Given the description of an element on the screen output the (x, y) to click on. 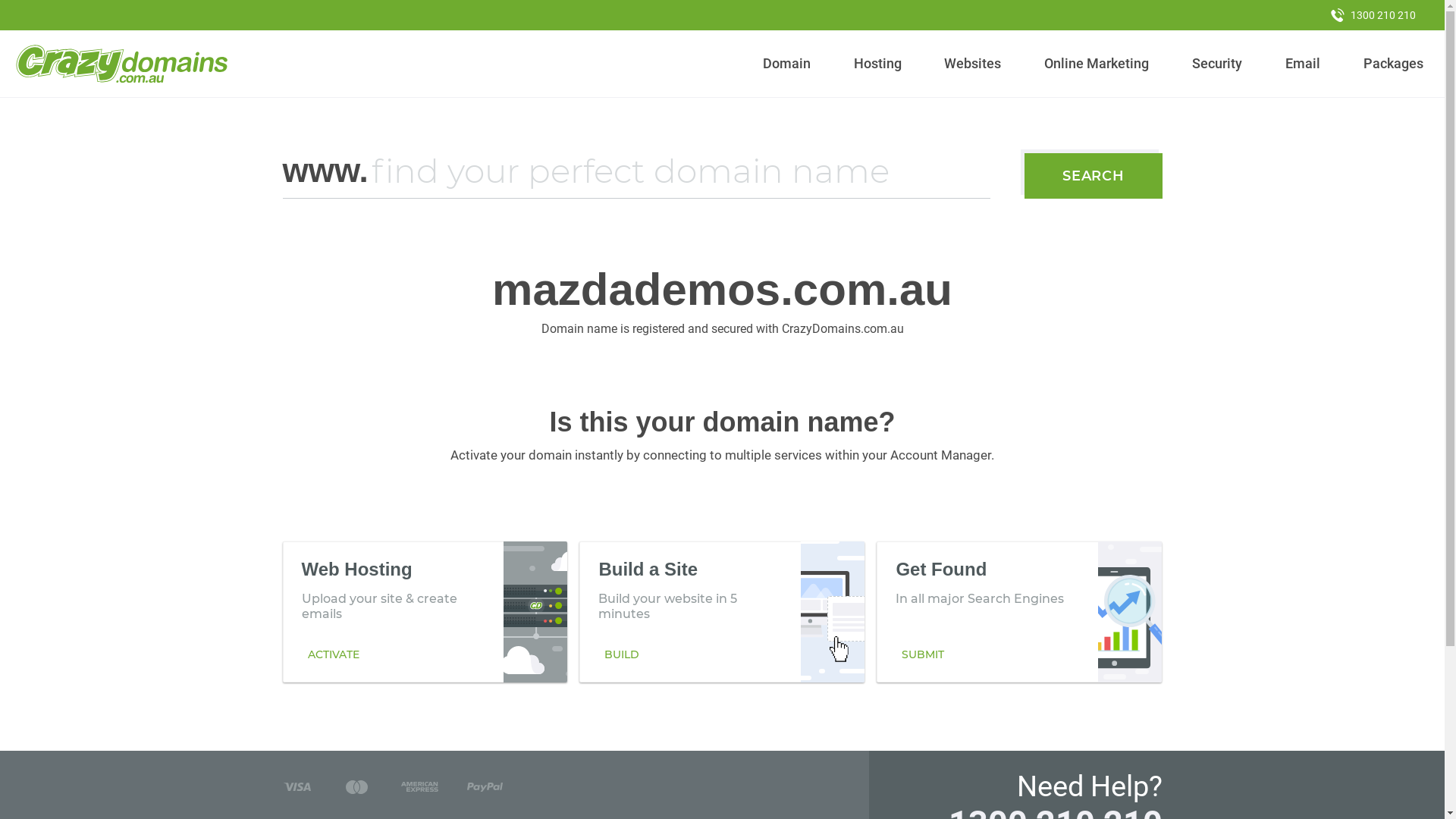
Build a Site
Build your website in 5 minutes
BUILD Element type: text (721, 611)
SEARCH Element type: text (1092, 175)
1300 210 210 Element type: text (1373, 15)
Hosting Element type: text (877, 63)
Domain Element type: text (786, 63)
Online Marketing Element type: text (1096, 63)
Websites Element type: text (972, 63)
Email Element type: text (1302, 63)
Security Element type: text (1217, 63)
Get Found
In all major Search Engines
SUBMIT Element type: text (1018, 611)
Packages Element type: text (1392, 63)
Web Hosting
Upload your site & create emails
ACTIVATE Element type: text (424, 611)
